Given the description of an element on the screen output the (x, y) to click on. 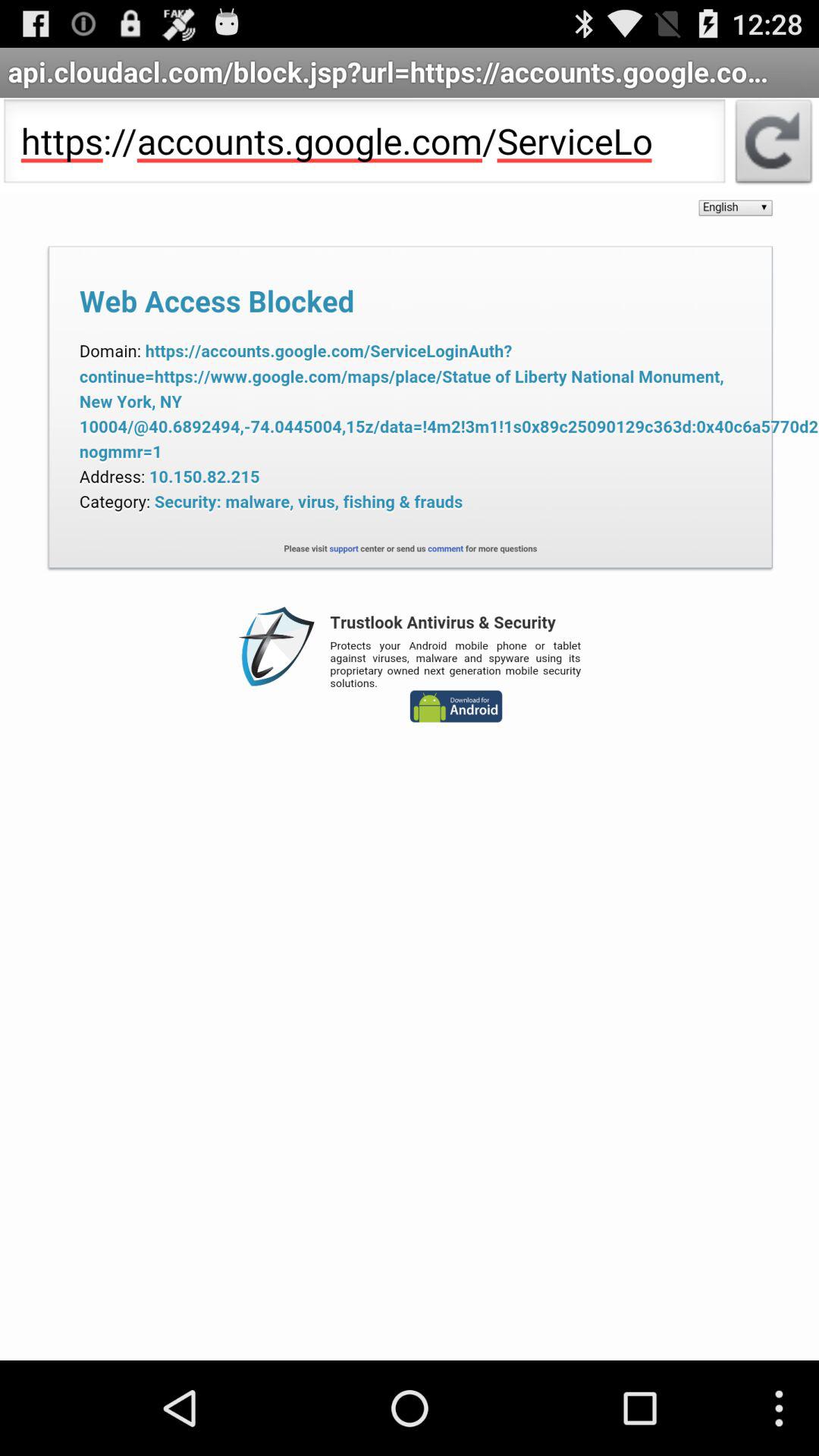
reload page (774, 145)
